Given the description of an element on the screen output the (x, y) to click on. 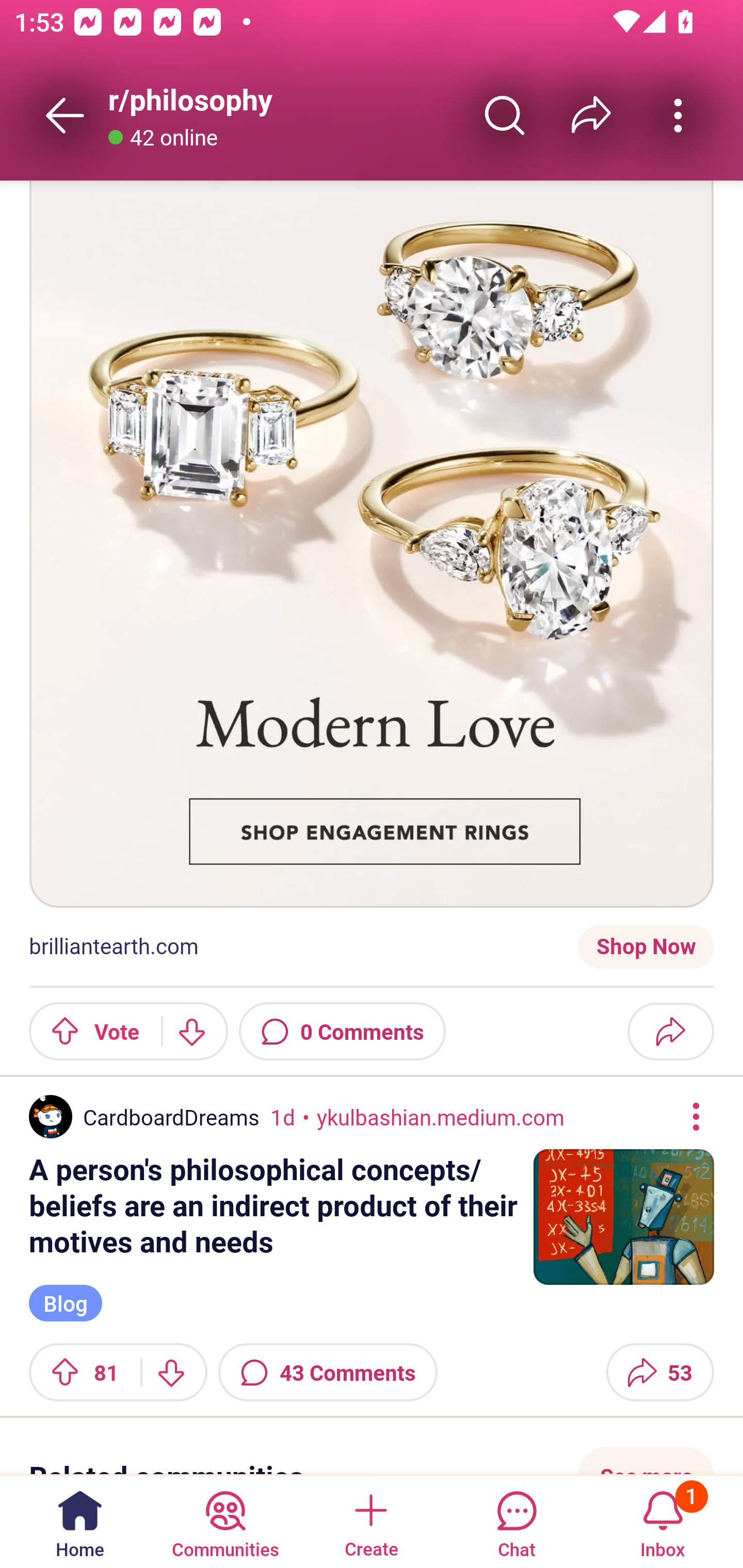
Back (64, 115)
Search r/﻿philosophy (504, 115)
Share r/﻿philosophy (591, 115)
More community actions (677, 115)
Blog (65, 1303)
Home (80, 1520)
Communities (225, 1520)
Create a post Create (370, 1520)
Chat (516, 1520)
Inbox, has 1 notification 1 Inbox (662, 1520)
